Given the description of an element on the screen output the (x, y) to click on. 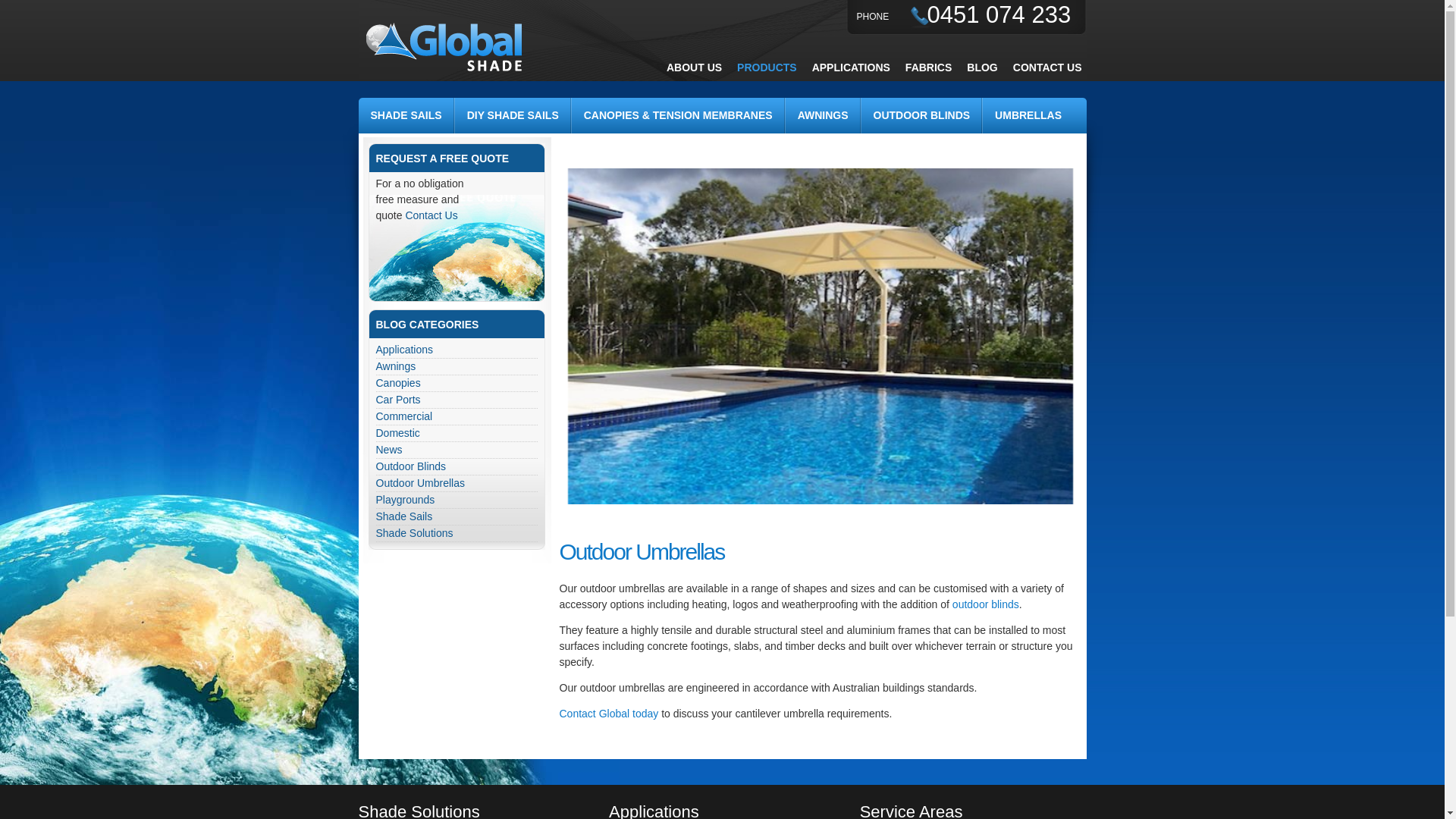
BLOG Element type: text (981, 67)
Canopies Element type: text (456, 383)
Commercial Element type: text (456, 416)
Contact Us Element type: text (430, 215)
Domestic Element type: text (456, 433)
FABRICS Element type: text (928, 67)
Outdoor Umbrellas Element type: text (456, 483)
Awnings Element type: text (456, 366)
Car Ports Element type: text (456, 399)
Applications Element type: text (456, 349)
News Element type: text (456, 450)
Outdoor Blinds Element type: text (456, 466)
DIY SHADE SAILS Element type: text (513, 115)
CANOPIES & TENSION MEMBRANES Element type: text (678, 115)
outdoor blinds Element type: text (985, 604)
ABOUT US Element type: text (694, 67)
Playgrounds Element type: text (456, 500)
Shade Solutions Element type: text (456, 533)
Contact Global today Element type: text (608, 713)
SHADE SAILS Element type: text (405, 115)
AWNINGS Element type: text (823, 115)
Shade Sails Element type: text (456, 516)
Global Shade Element type: text (445, 46)
CONTACT US Element type: text (1047, 67)
PRODUCTS Element type: text (766, 67)
UMBRELLAS Element type: text (1028, 115)
APPLICATIONS Element type: text (850, 67)
OUTDOOR BLINDS Element type: text (922, 115)
